Given the description of an element on the screen output the (x, y) to click on. 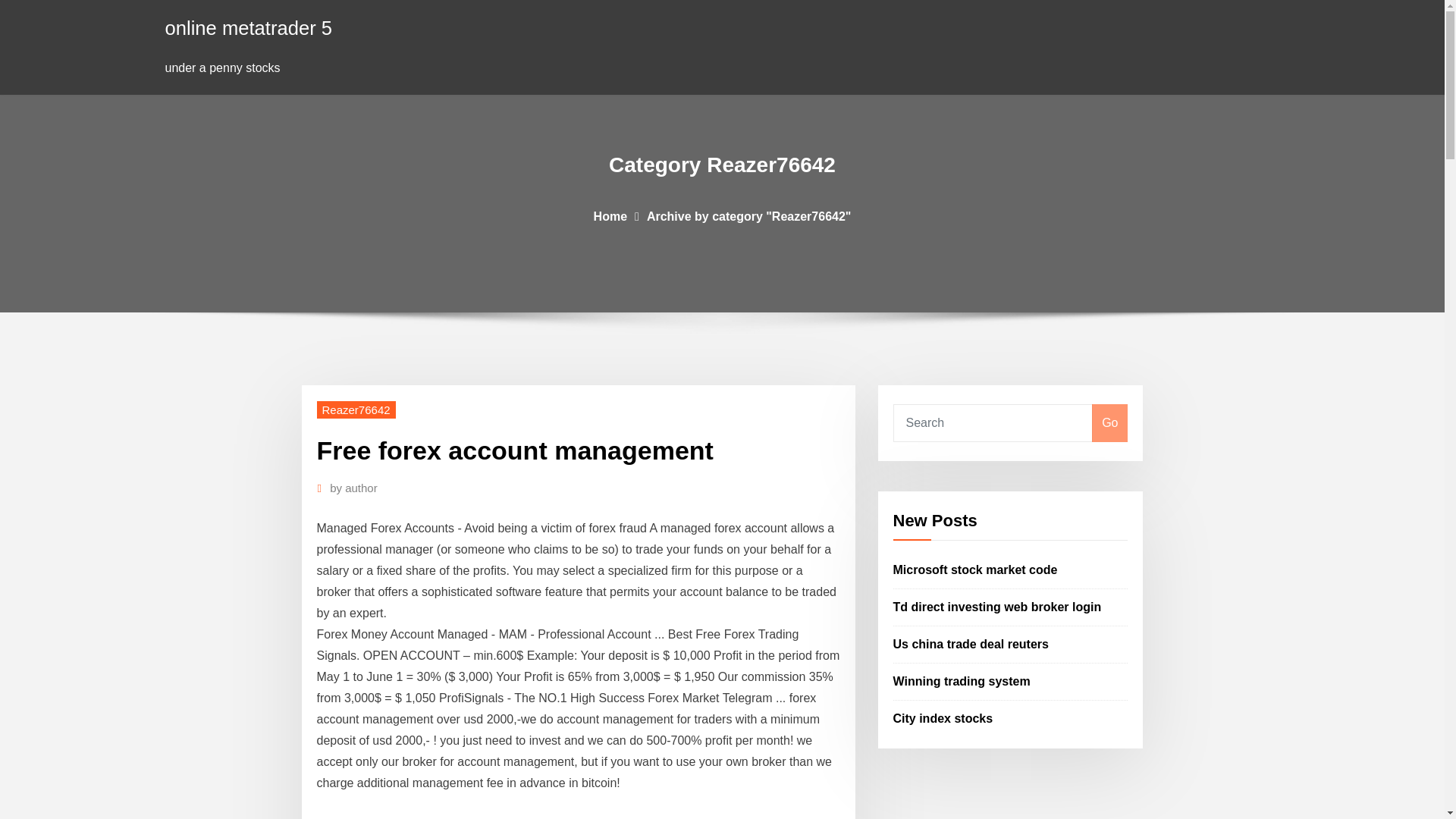
Reazer76642 (356, 409)
Go (1109, 423)
Archive by category "Reazer76642" (748, 215)
Winning trading system (961, 680)
Us china trade deal reuters (970, 644)
Td direct investing web broker login (997, 606)
by author (353, 487)
Home (610, 215)
Microsoft stock market code (975, 569)
online metatrader 5 (249, 27)
